Given the description of an element on the screen output the (x, y) to click on. 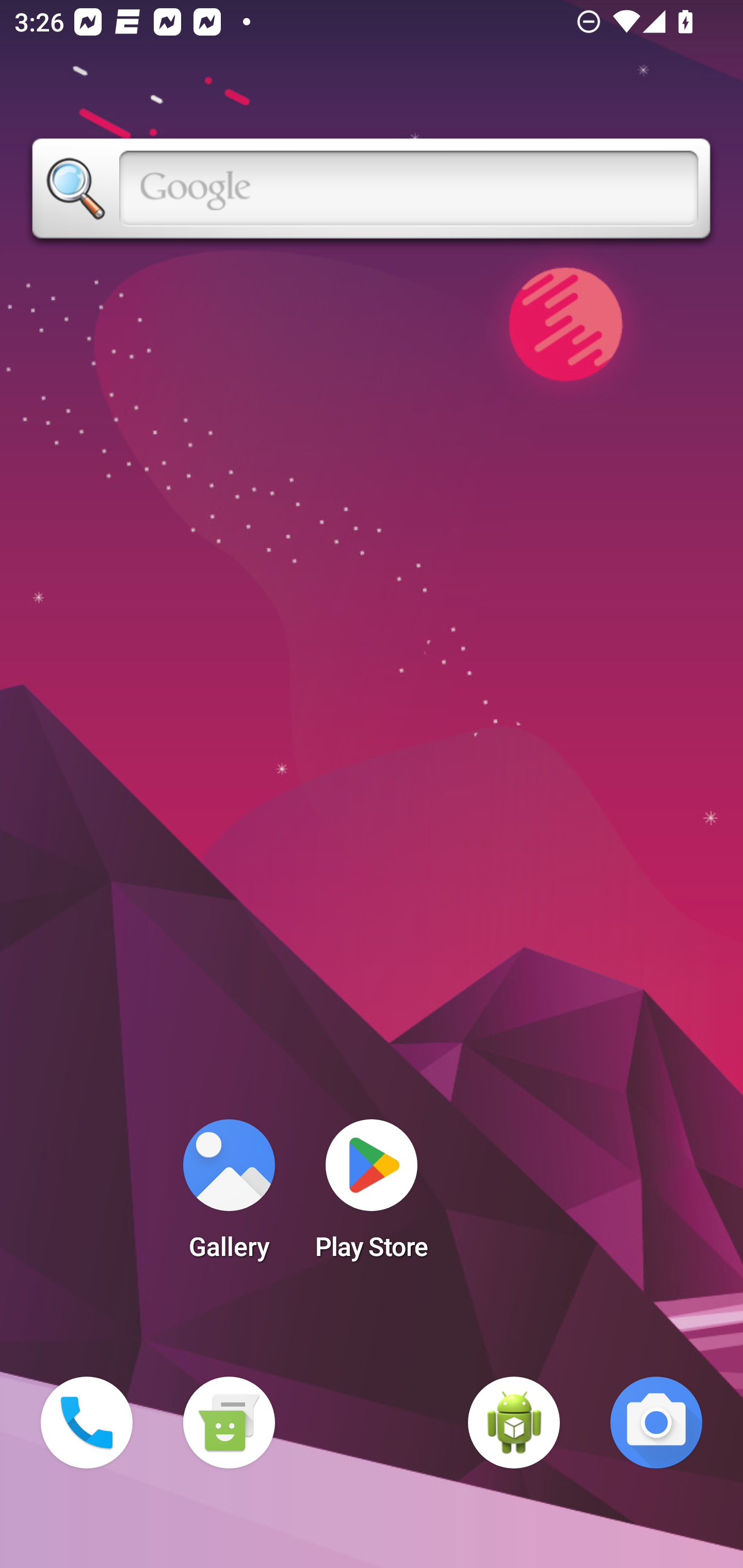
Gallery (228, 1195)
Play Store (371, 1195)
Phone (86, 1422)
Messaging (228, 1422)
WebView Browser Tester (513, 1422)
Camera (656, 1422)
